Given the description of an element on the screen output the (x, y) to click on. 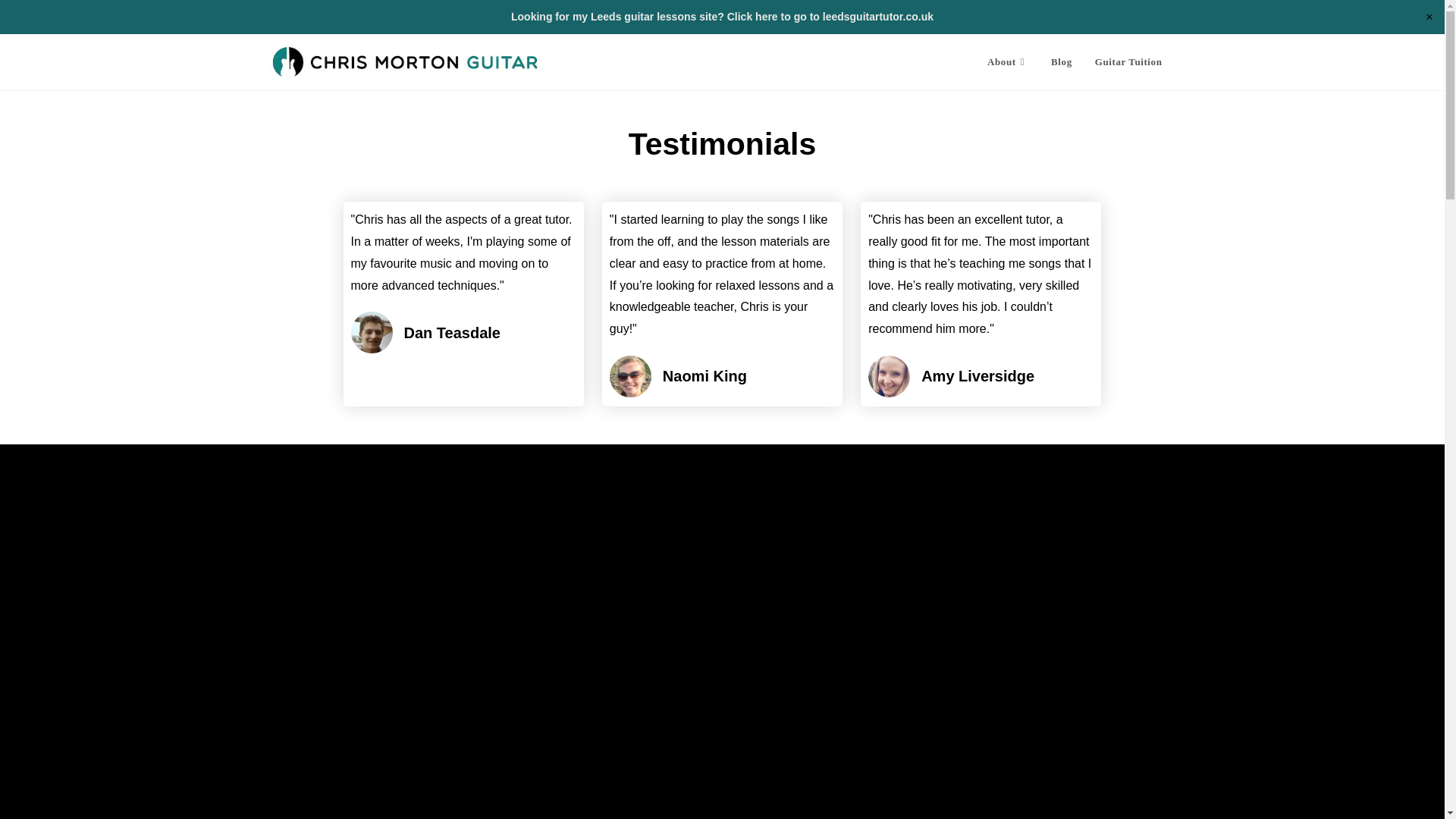
Guitar Tuition (1128, 62)
About (1007, 62)
